Given the description of an element on the screen output the (x, y) to click on. 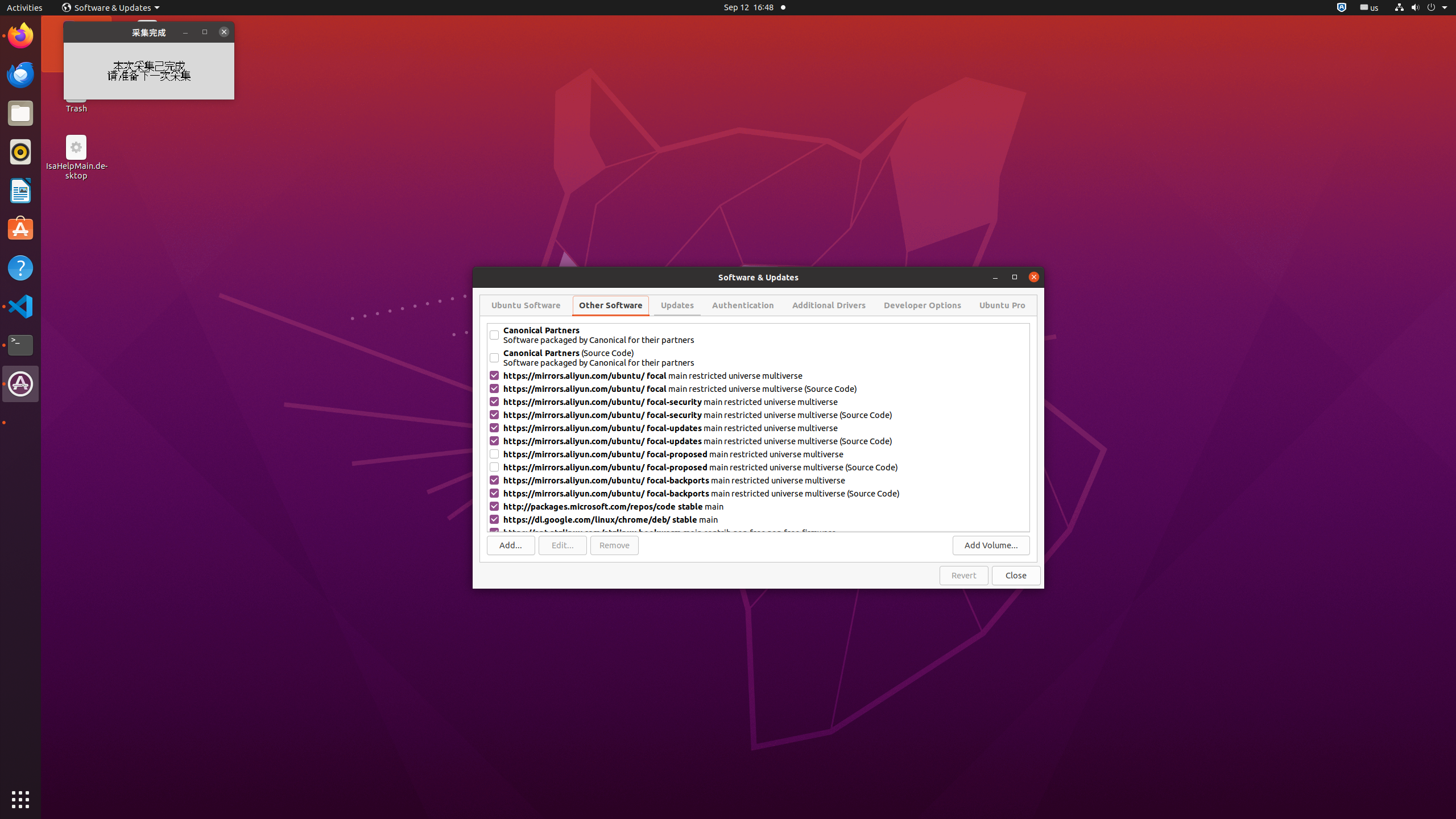
Additional Drivers Element type: page-tab (828, 304)
https://mirrors.aliyun.com/ubuntu/ focal-backports main restricted universe multiverse Element type: table-cell (765, 480)
Canonical Partners
Software packaged by Canonical for their partners Element type: table-cell (765, 334)
